Given the description of an element on the screen output the (x, y) to click on. 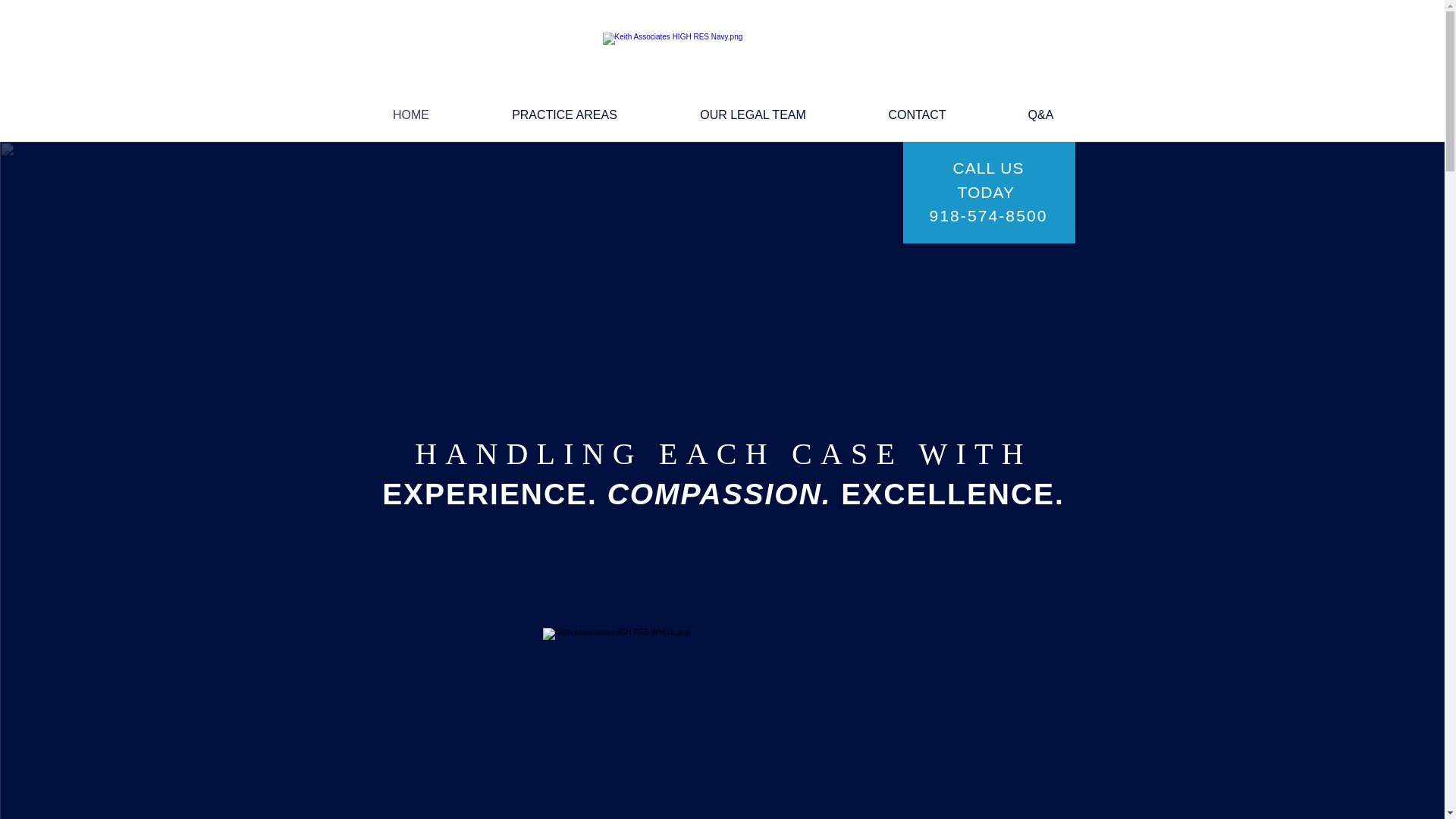
HOME (411, 107)
PRACTICE AREAS (564, 107)
